Given the description of an element on the screen output the (x, y) to click on. 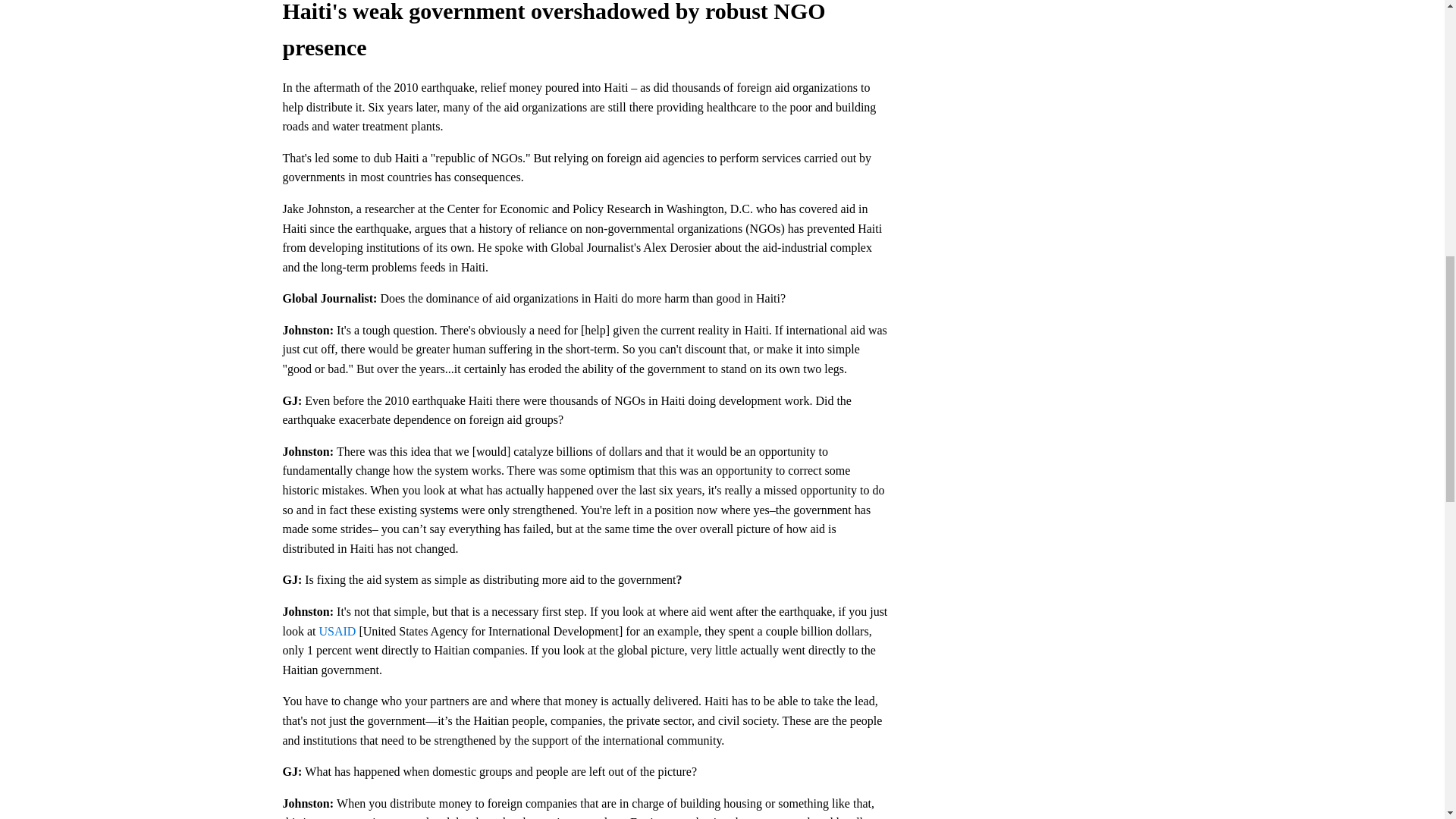
USAID (336, 631)
